Given the description of an element on the screen output the (x, y) to click on. 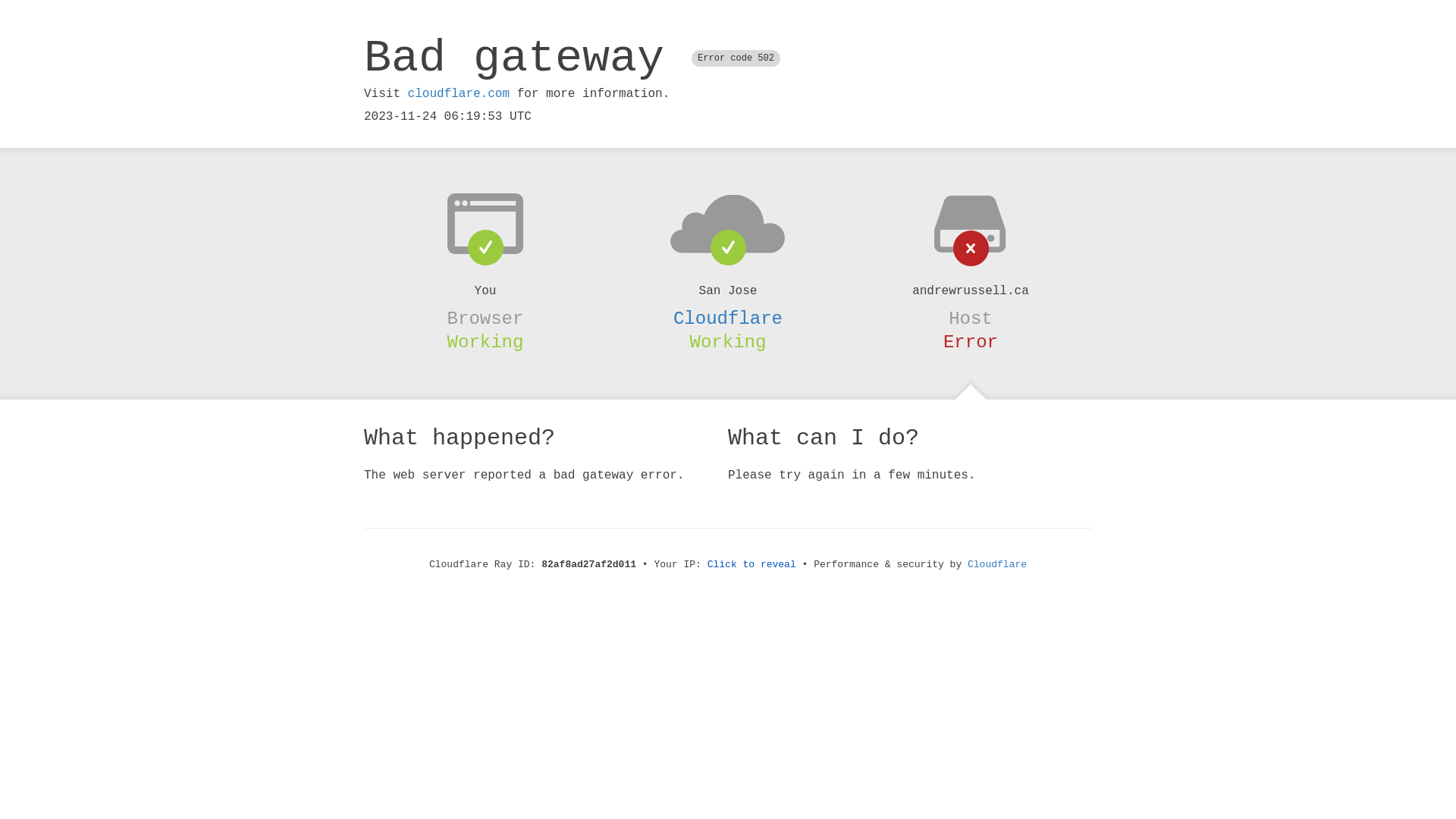
Cloudflare Element type: text (727, 318)
cloudflare.com Element type: text (458, 93)
Cloudflare Element type: text (996, 564)
Click to reveal Element type: text (751, 564)
